Given the description of an element on the screen output the (x, y) to click on. 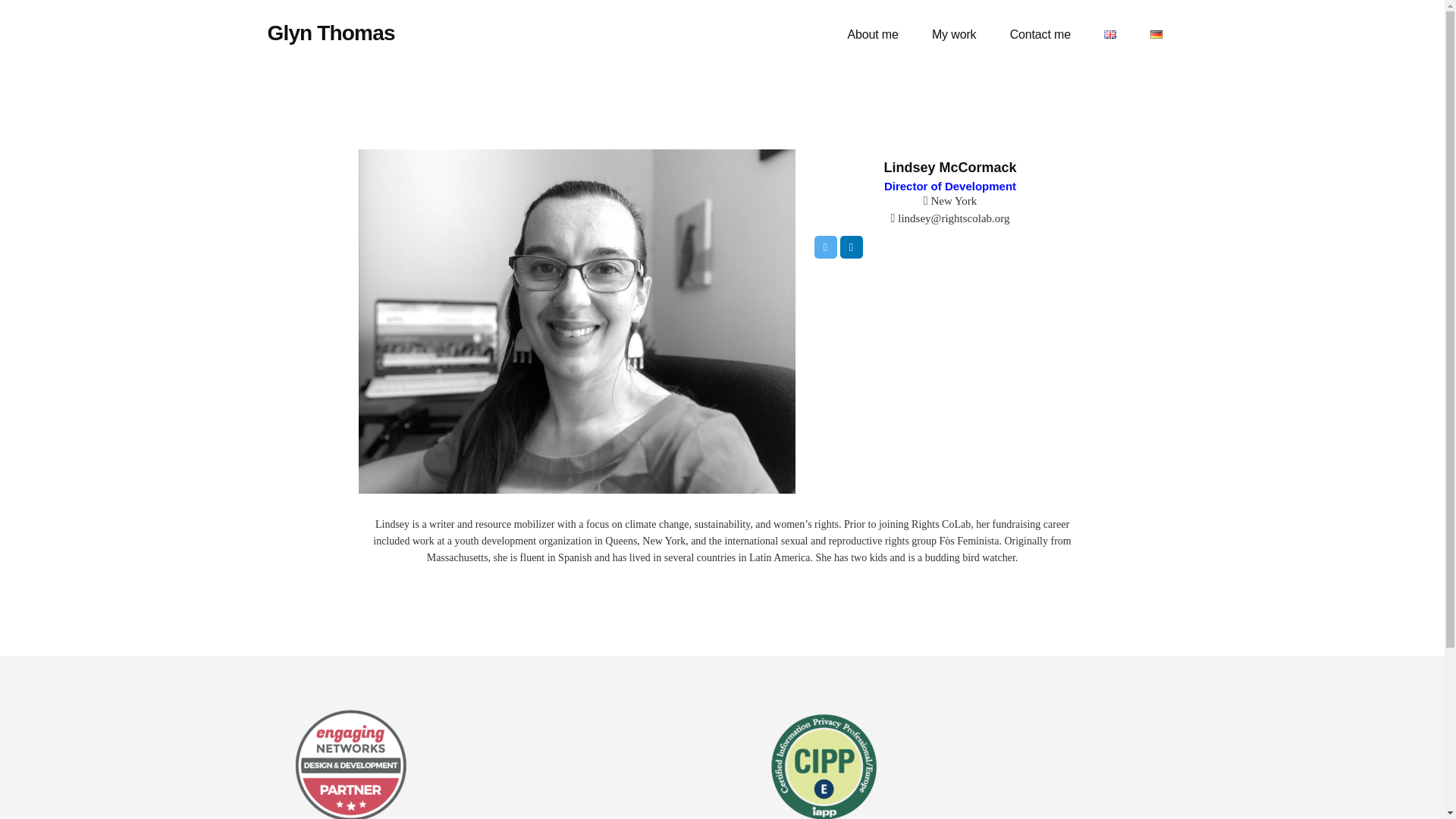
About me (871, 34)
Linkedin (851, 246)
Contact me (1040, 34)
Glyn Thomas (330, 33)
My work (954, 34)
Twitter (825, 246)
